Given the description of an element on the screen output the (x, y) to click on. 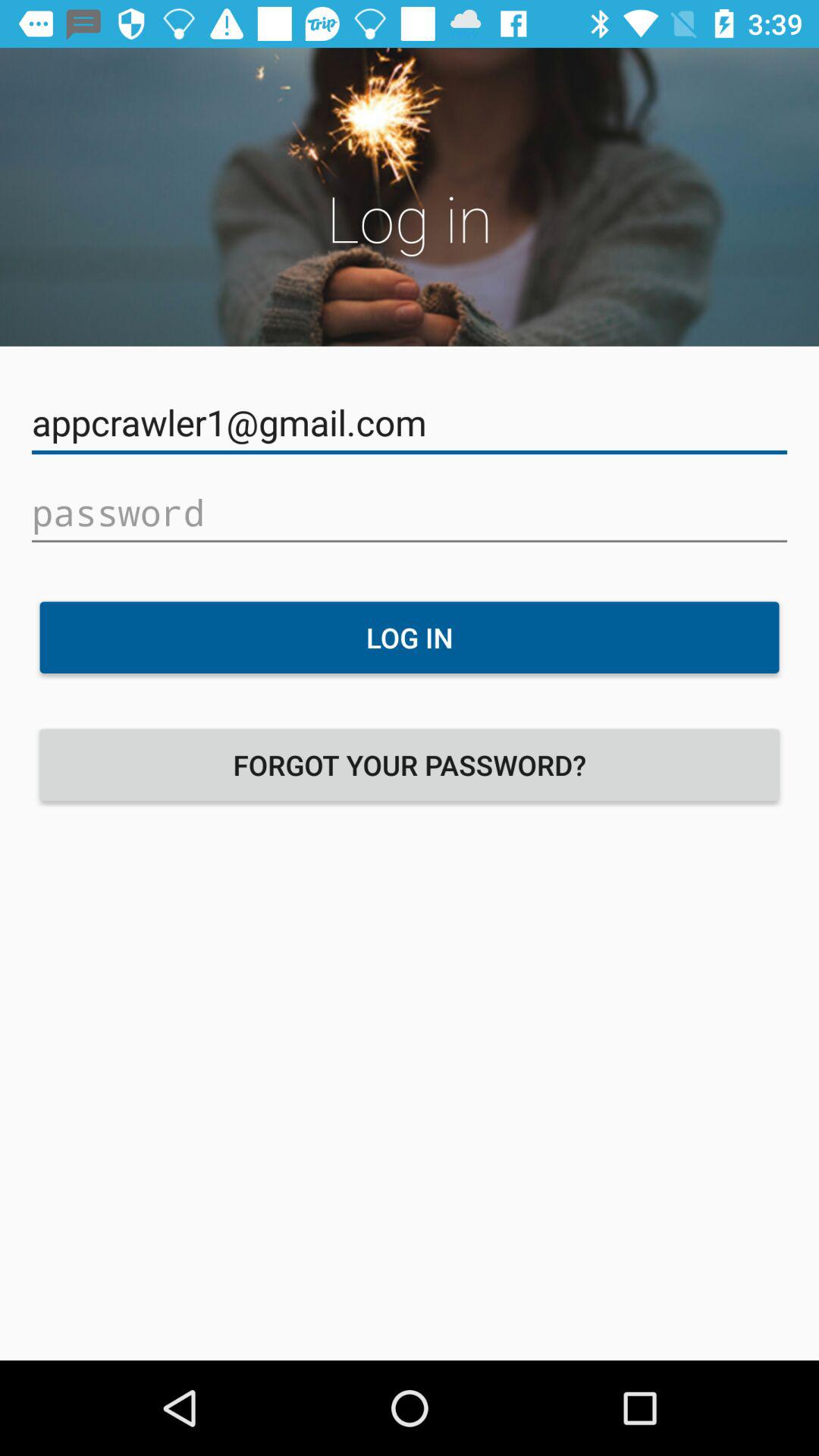
scroll to the appcrawler1@gmail.com (409, 423)
